Given the description of an element on the screen output the (x, y) to click on. 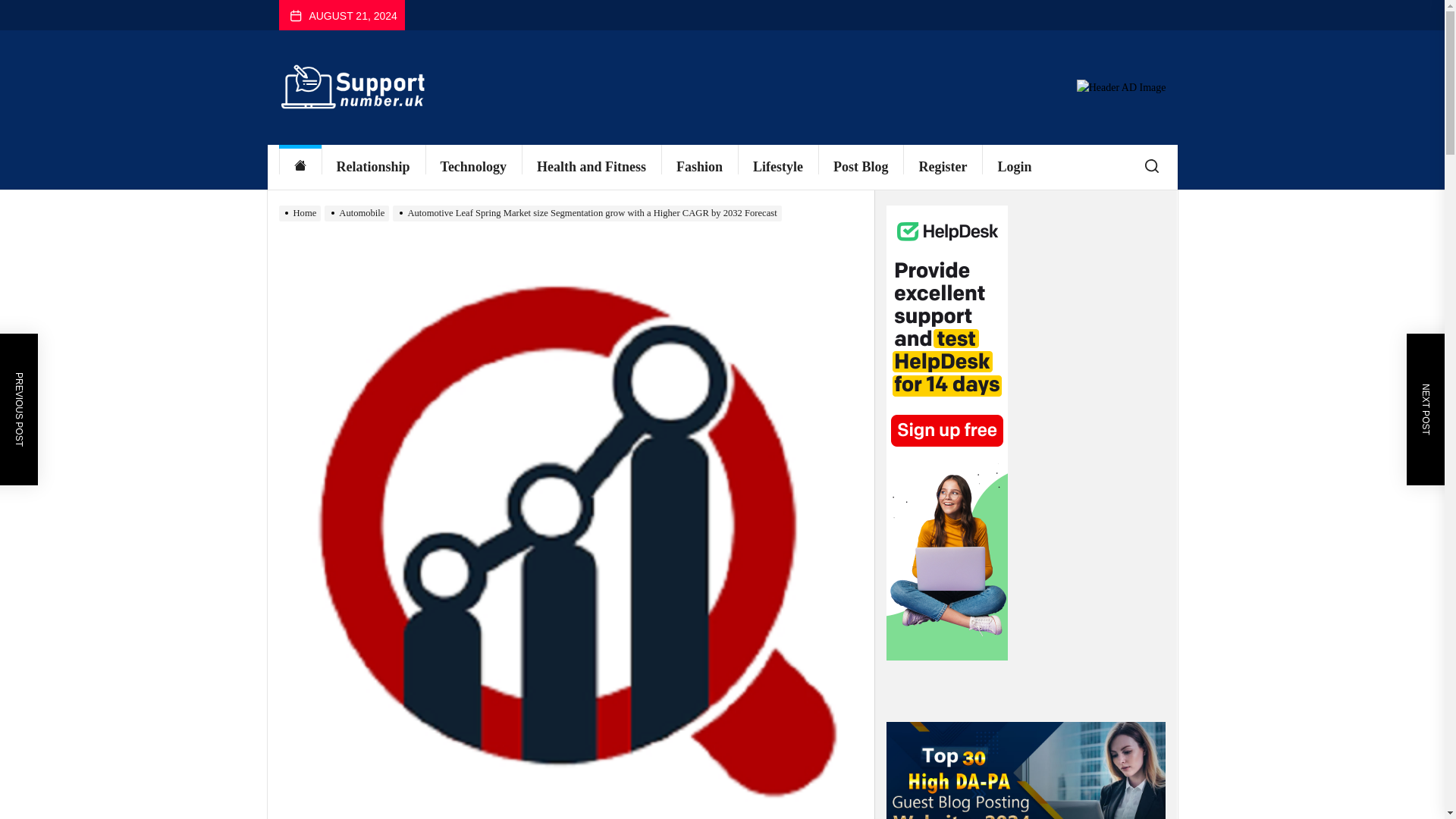
Technology (473, 166)
Login (1013, 166)
Fashion (699, 166)
Header AD Image (1121, 87)
Post Blog (861, 166)
Relationship (373, 166)
Health and Fitness (591, 166)
Lifestyle (778, 166)
Home (300, 166)
